Given the description of an element on the screen output the (x, y) to click on. 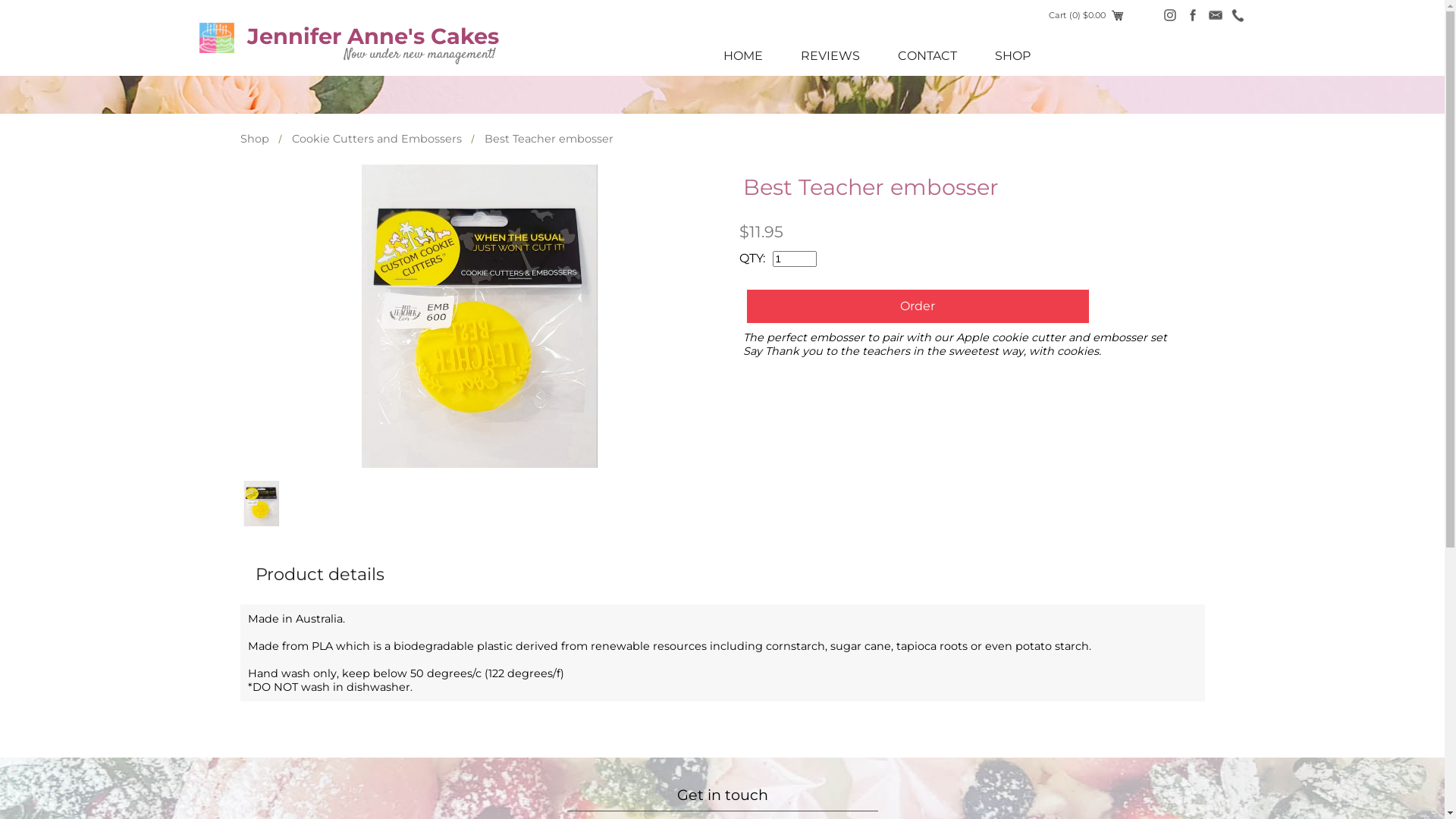
Cookie Cutters and Embossers Element type: text (376, 138)
Cart (0) $0.00 Element type: text (1085, 15)
Best Teacher embosser Element type: hover (479, 315)
Best Teacher embosser Element type: text (547, 138)
HOME Element type: text (742, 55)
CONTACT Element type: text (926, 55)
SHOP Element type: text (1011, 55)
REVIEWS Element type: text (829, 55)
Shop Element type: text (253, 138)
Order Element type: text (916, 306)
